Given the description of an element on the screen output the (x, y) to click on. 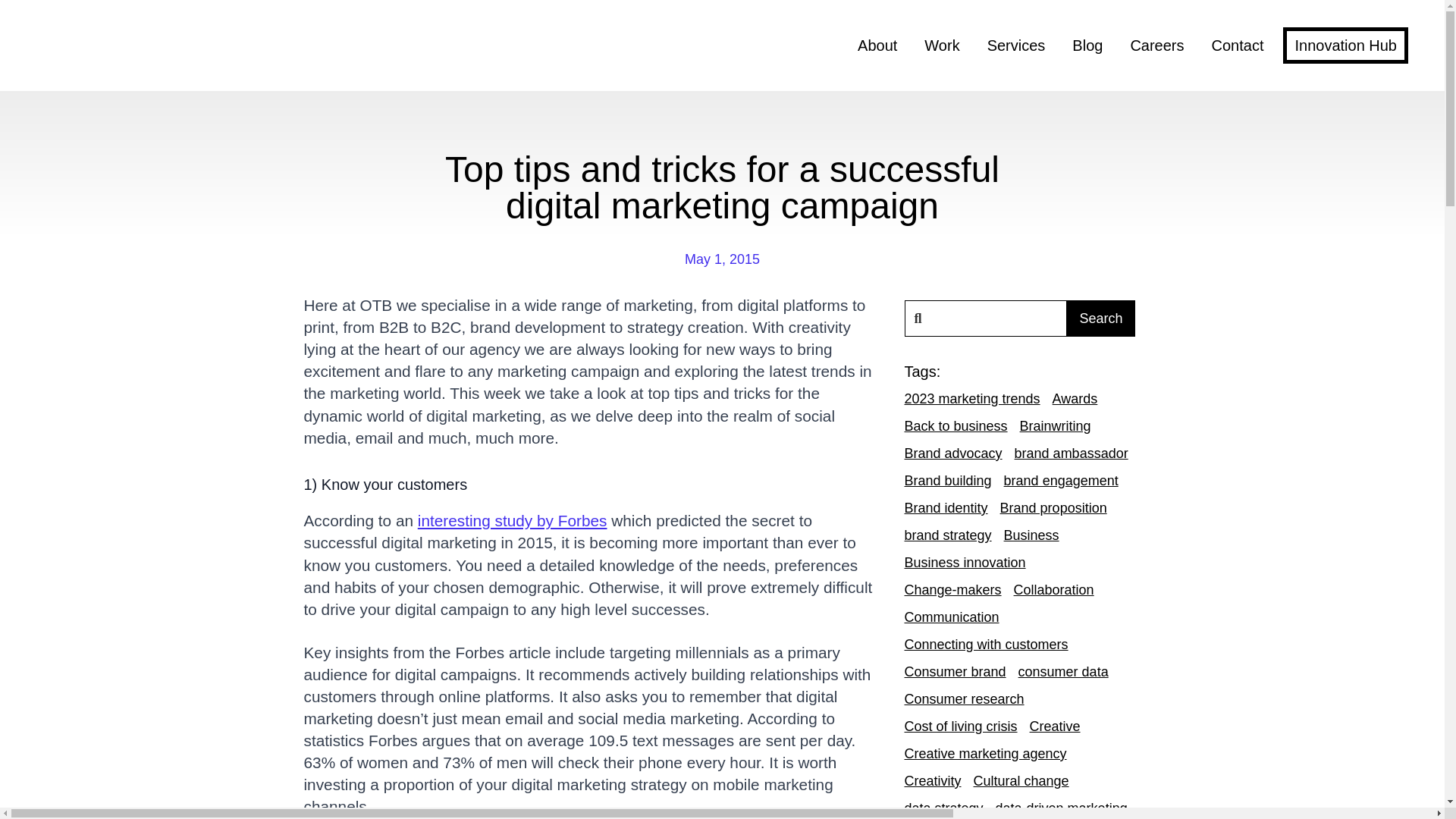
Blog (1086, 45)
Contact (1237, 45)
Business innovation (964, 562)
Communication (951, 617)
brand ambassador (1071, 453)
Search (1100, 318)
About (877, 45)
Business (1031, 535)
Innovation Hub (1344, 45)
brand engagement (1061, 480)
Change-makers (952, 589)
interesting study by Forbes (512, 520)
Brand identity (945, 507)
Work (941, 45)
Careers (1156, 45)
